Given the description of an element on the screen output the (x, y) to click on. 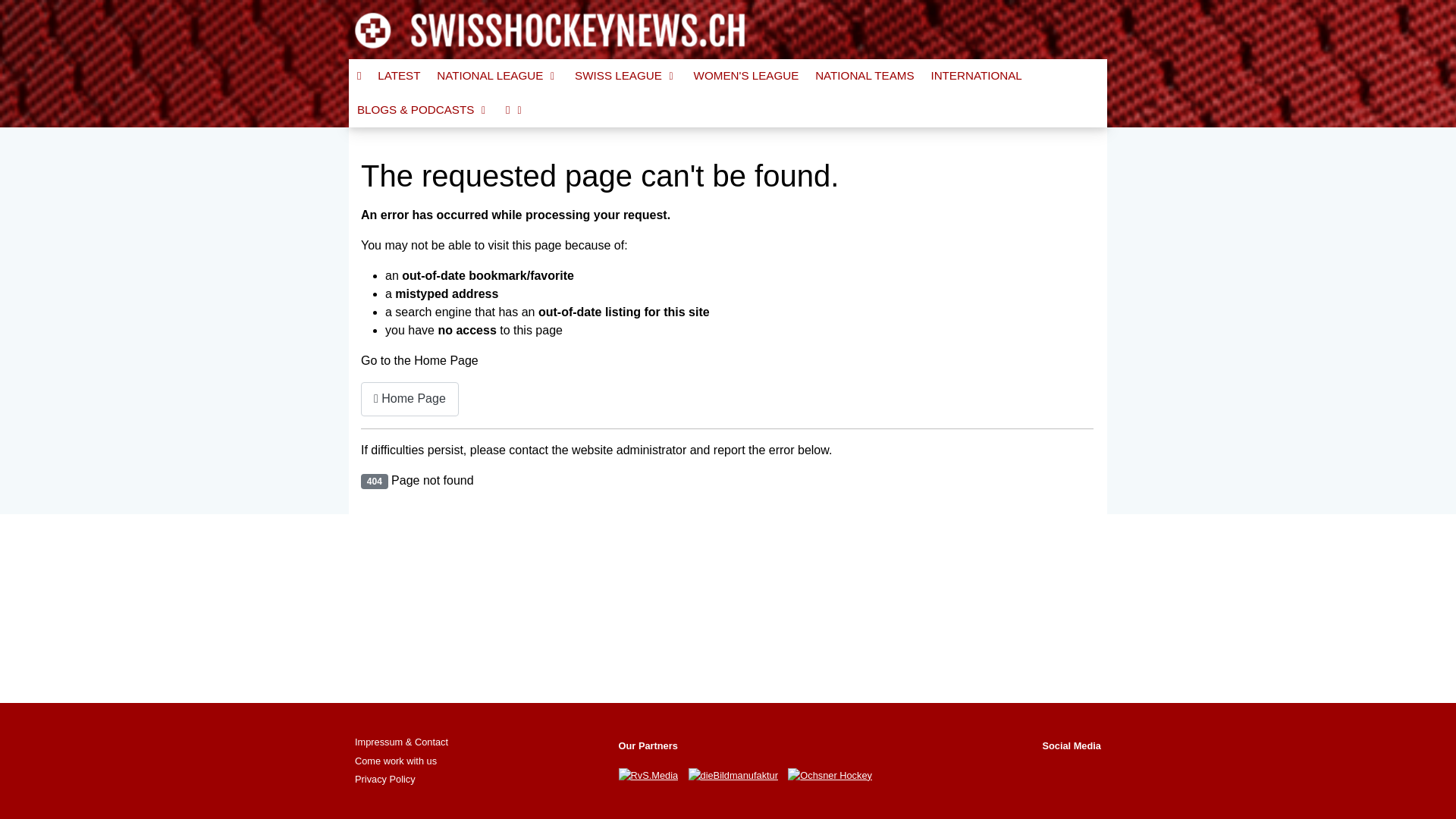
LATEST (398, 75)
NATIONAL LEAGUE (497, 75)
